Given the description of an element on the screen output the (x, y) to click on. 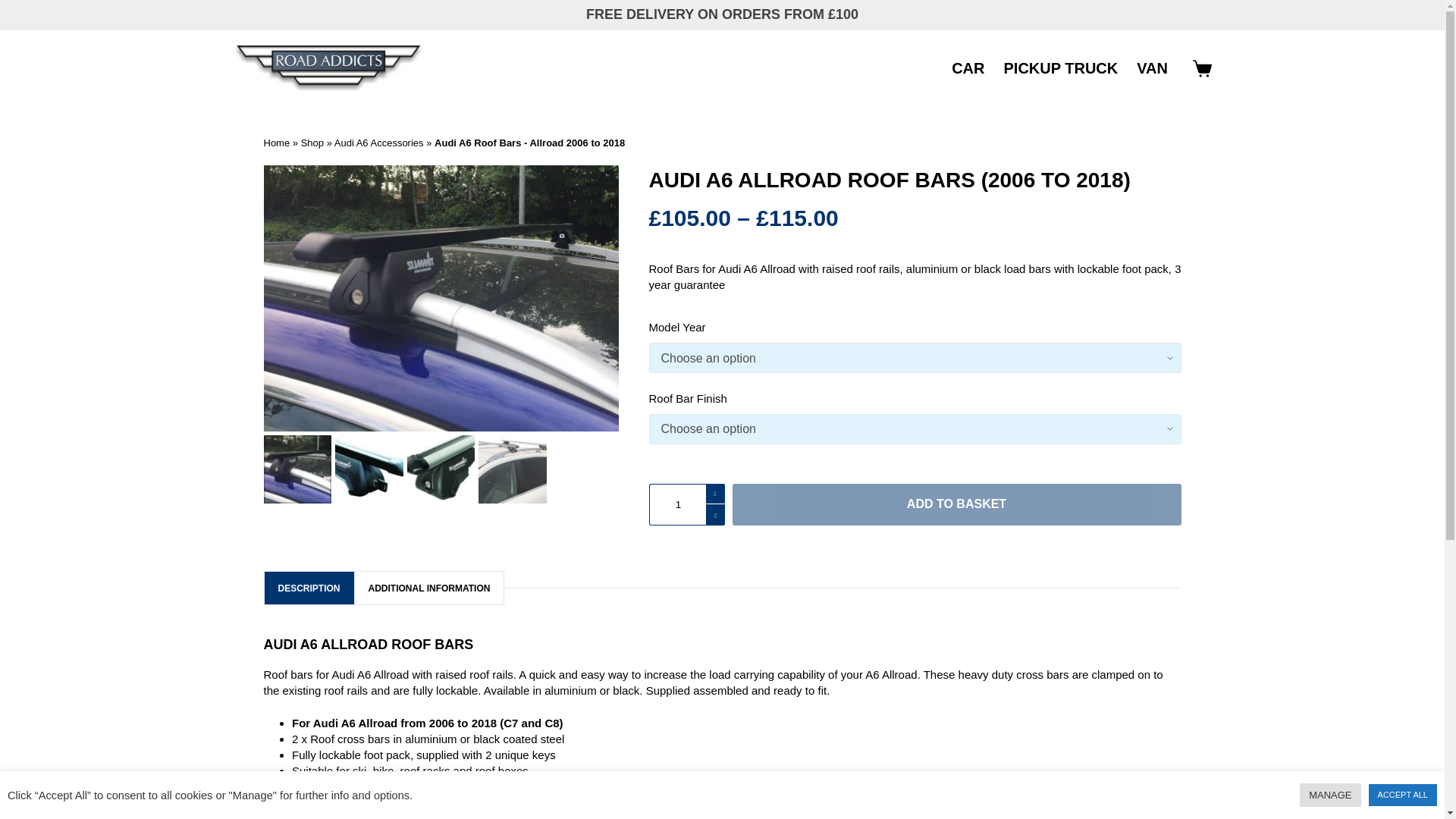
ADDITIONAL INFORMATION (429, 587)
Home (276, 142)
MANAGE (1329, 794)
Shopping cart (1201, 67)
Skip to content (15, 7)
DESCRIPTION (308, 587)
1 (687, 504)
Roof Bars Aluminium (441, 468)
Roof Bars Black (368, 468)
Audi A6 Accessories (378, 142)
